Given the description of an element on the screen output the (x, y) to click on. 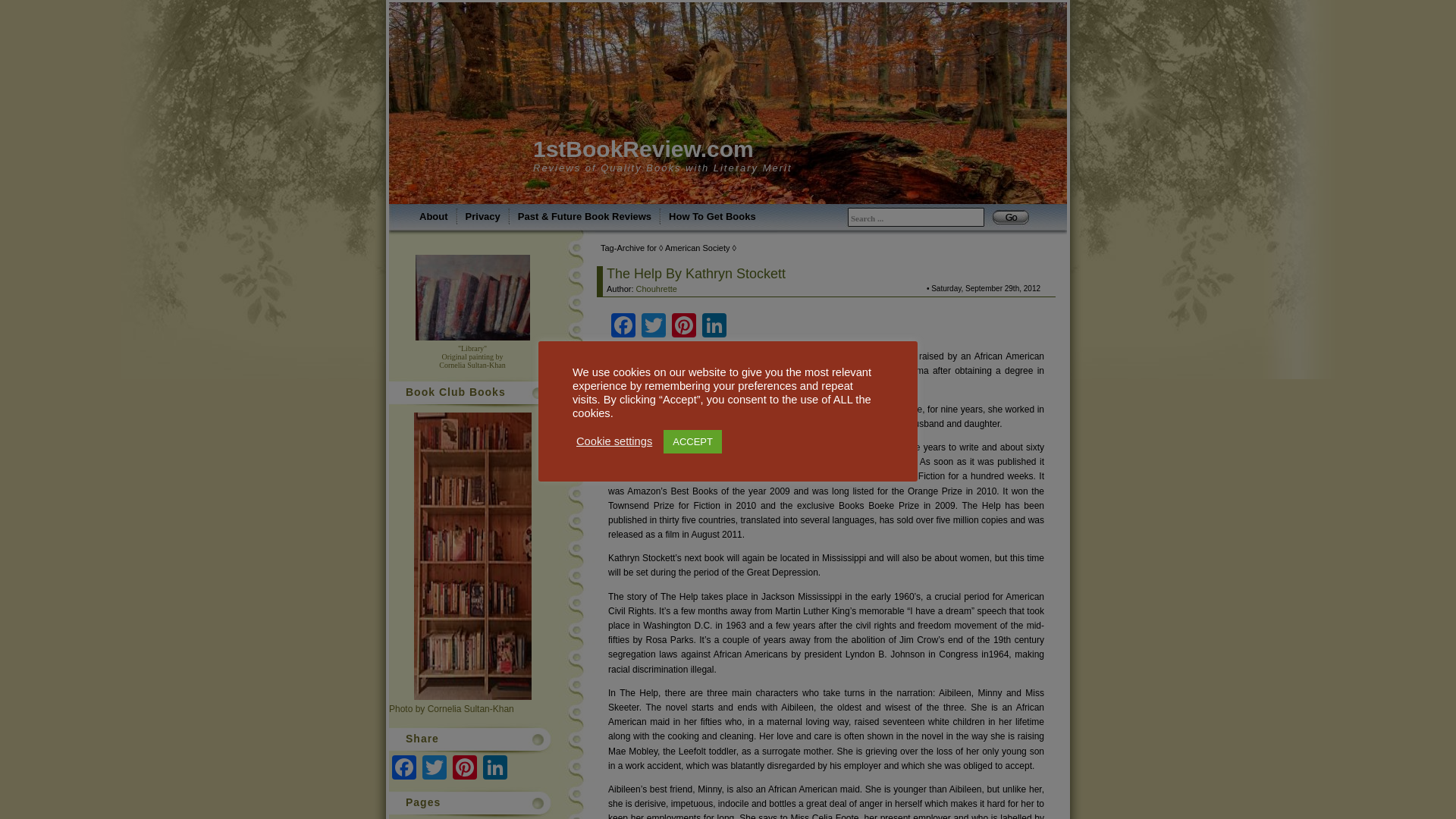
Facebook Element type: text (623, 325)
Cookie settings Element type: text (614, 441)
LinkedIn Element type: text (495, 767)
Pinterest Element type: text (683, 325)
LinkedIn Element type: text (714, 325)
Twitter Element type: text (653, 325)
Facebook Element type: text (404, 767)
About Element type: text (433, 216)
The Help By Kathryn Stockett Element type: text (695, 273)
Chouhrette Element type: text (656, 288)
Book Club Books Element type: hover (472, 555)
Twitter Element type: text (434, 767)
Past & Future Book Reviews Element type: text (584, 216)
1stBookReview.com Element type: text (643, 148)
How To Get Books Element type: text (712, 216)
Pinterest Element type: text (464, 767)
ACCEPT Element type: text (692, 440)
Privacy Element type: text (483, 216)
